Given the description of an element on the screen output the (x, y) to click on. 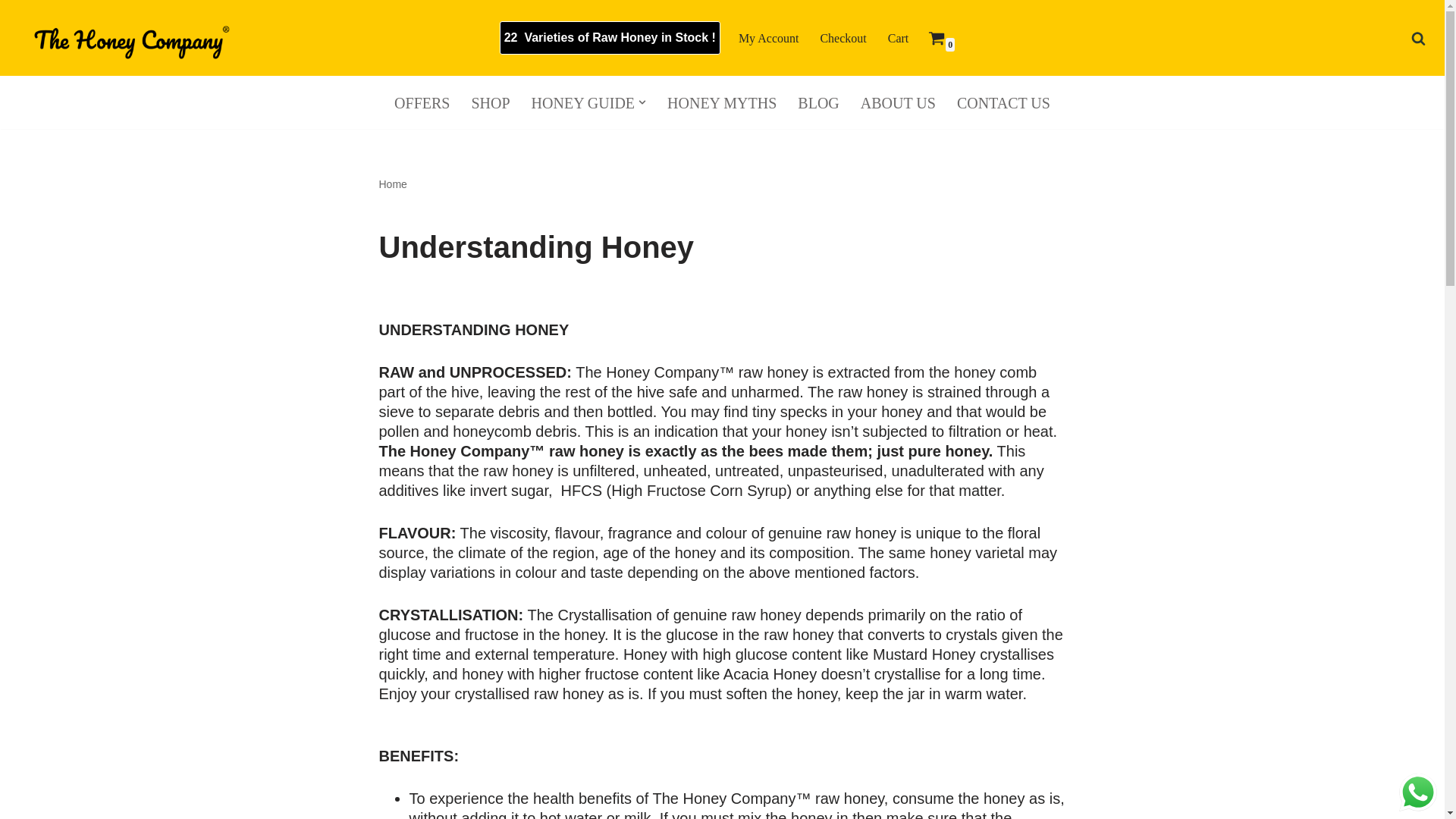
CONTACT US (1002, 101)
SHOP (489, 101)
22  Varieties of Raw Honey in Stock ! (609, 37)
BLOG (817, 101)
ABOUT US (898, 101)
Cart (898, 37)
My Account (768, 37)
Skip to content (11, 31)
0 (936, 37)
HONEY MYTHS (721, 101)
Checkout (842, 37)
OFFERS (421, 101)
HONEY GUIDE (582, 101)
